Given the description of an element on the screen output the (x, y) to click on. 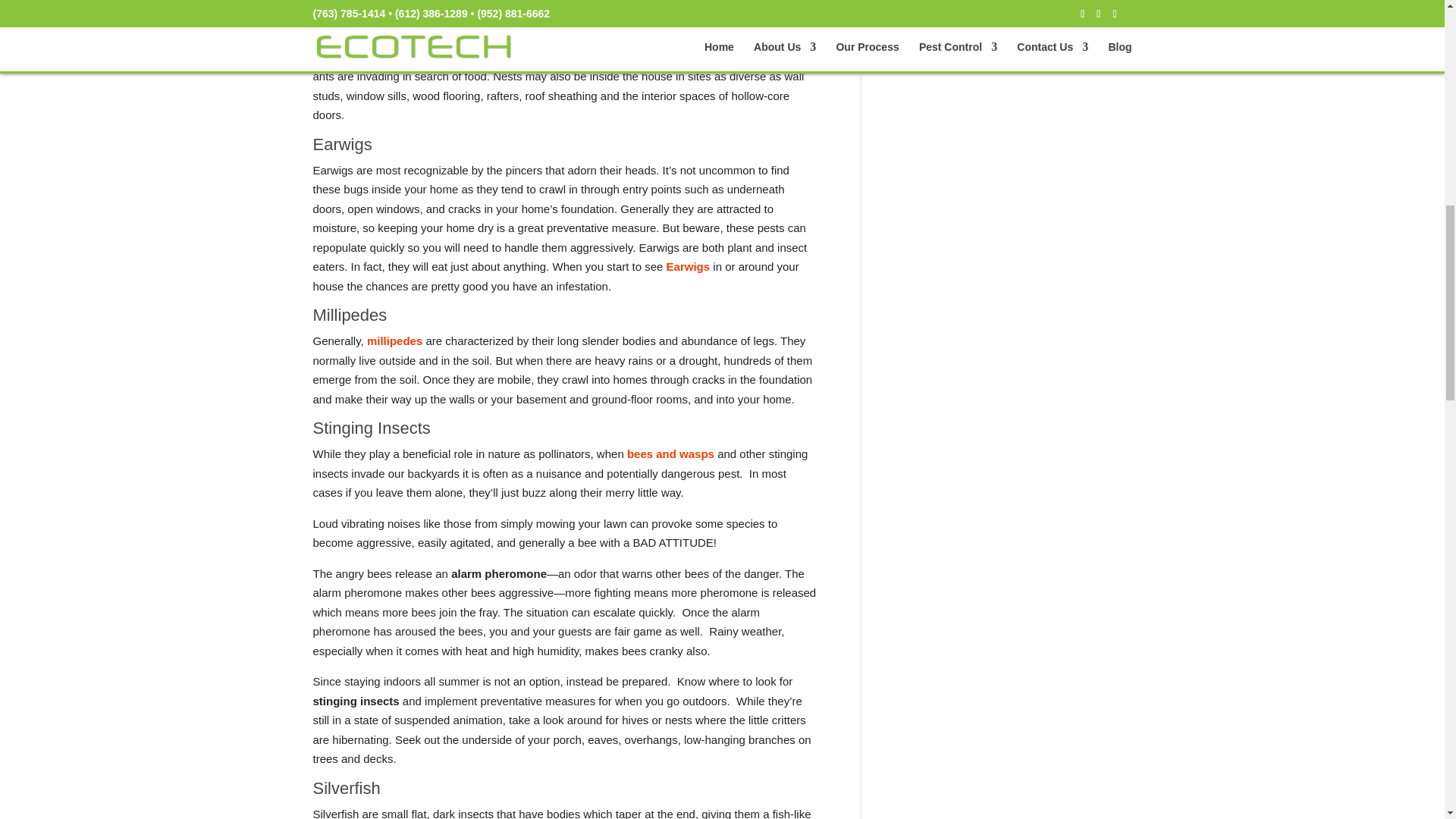
millipedes (394, 340)
Earwigs (688, 266)
bees and wasps (670, 453)
